Given the description of an element on the screen output the (x, y) to click on. 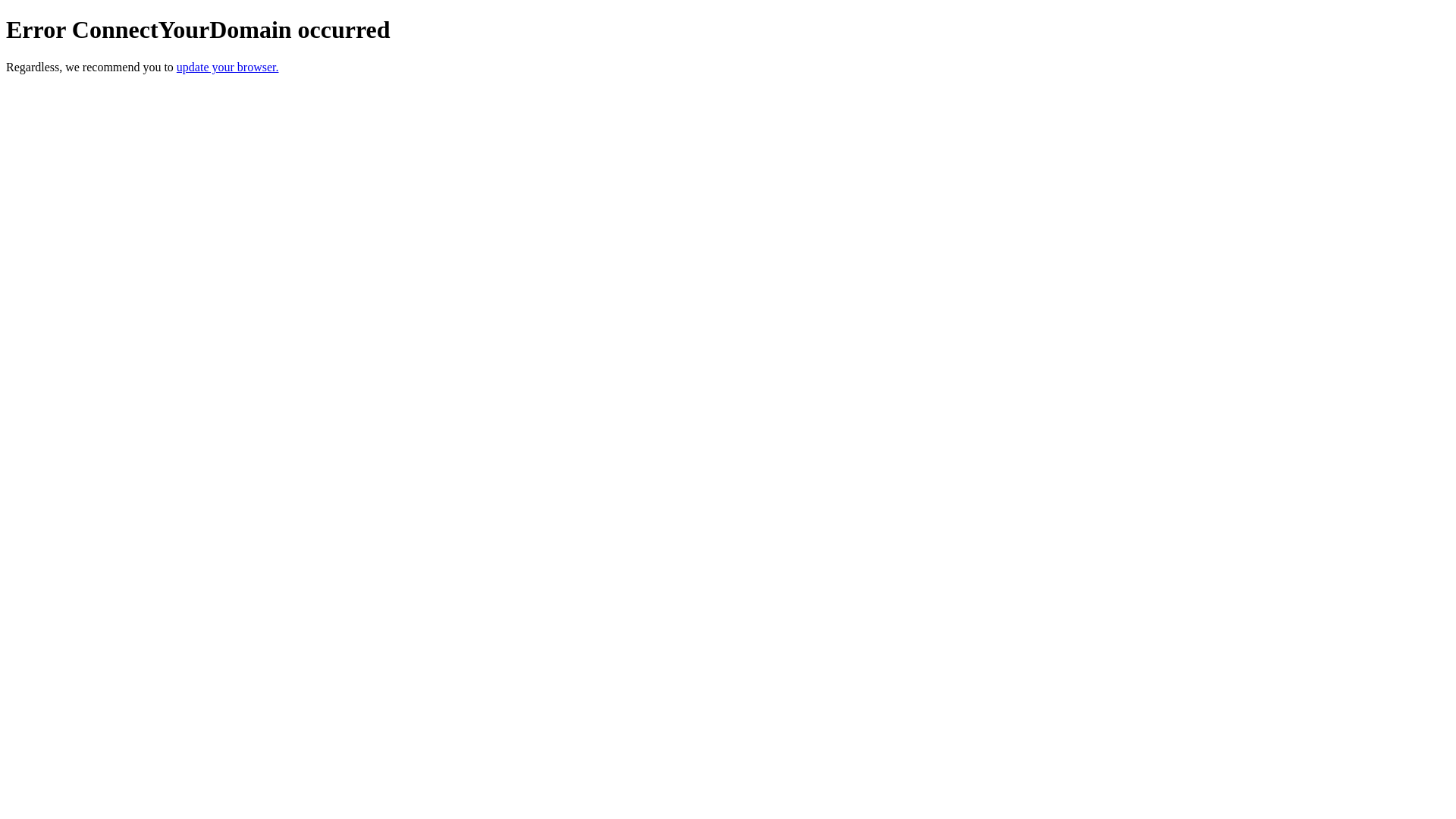
update your browser. Element type: text (227, 66)
